Given the description of an element on the screen output the (x, y) to click on. 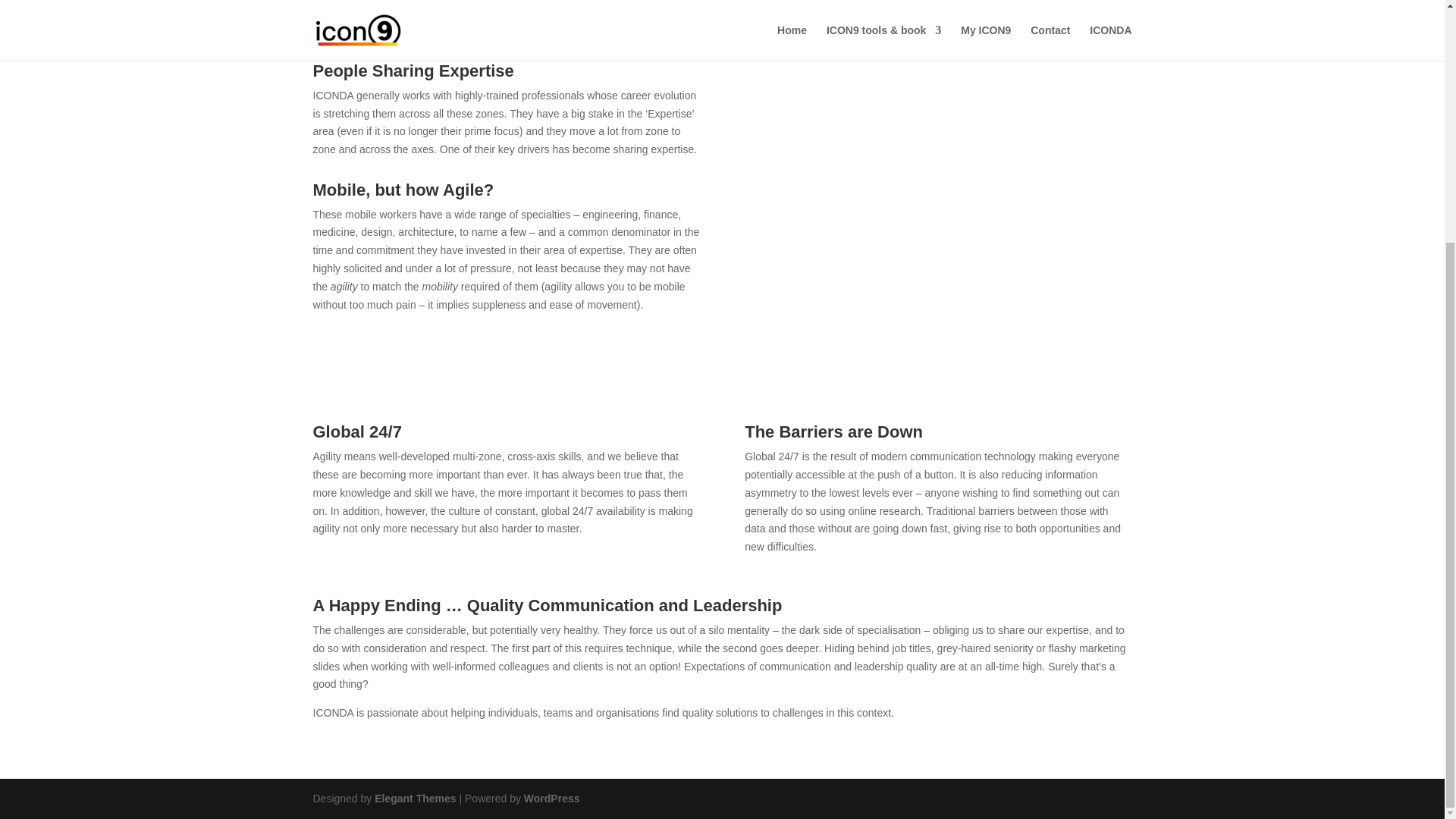
WordPress (551, 798)
Elegant Themes (414, 798)
Premium WordPress Themes (414, 798)
